Given the description of an element on the screen output the (x, y) to click on. 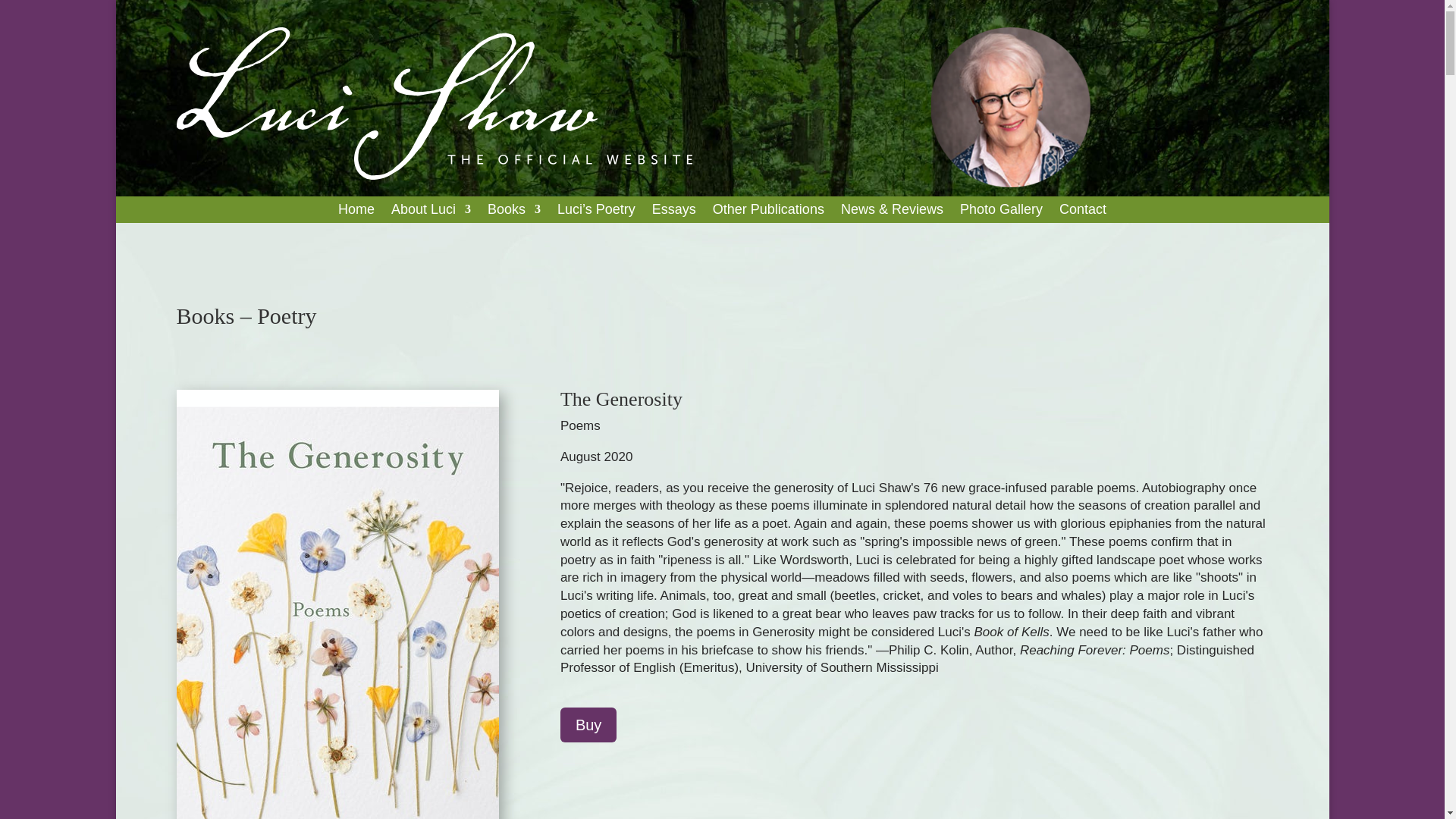
Books (513, 211)
Home (355, 211)
Contact (1082, 211)
Other Publications (768, 211)
About Luci (430, 211)
Photo Gallery (1000, 211)
Essays (673, 211)
luci-shaw-photo (1010, 107)
Buy (587, 724)
